Given the description of an element on the screen output the (x, y) to click on. 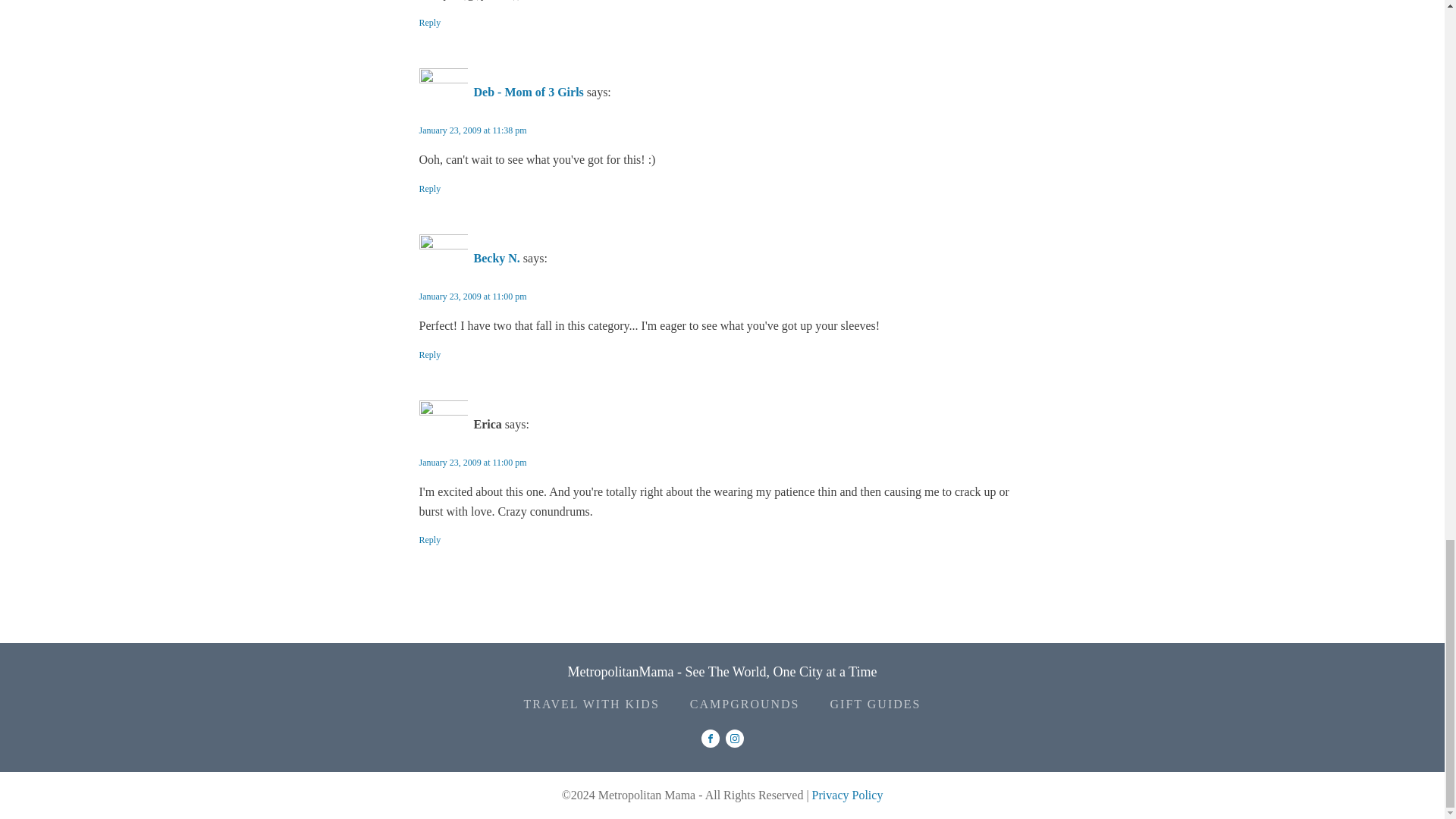
January 23, 2009 at 11:38 pm (472, 130)
GIFT GUIDES (874, 704)
Reply (430, 355)
Becky N. (496, 257)
TRAVEL WITH KIDS (591, 704)
Reply (430, 540)
Reply (430, 22)
Reply (430, 188)
January 23, 2009 at 11:00 pm (472, 296)
January 23, 2009 at 11:00 pm (472, 462)
